Given the description of an element on the screen output the (x, y) to click on. 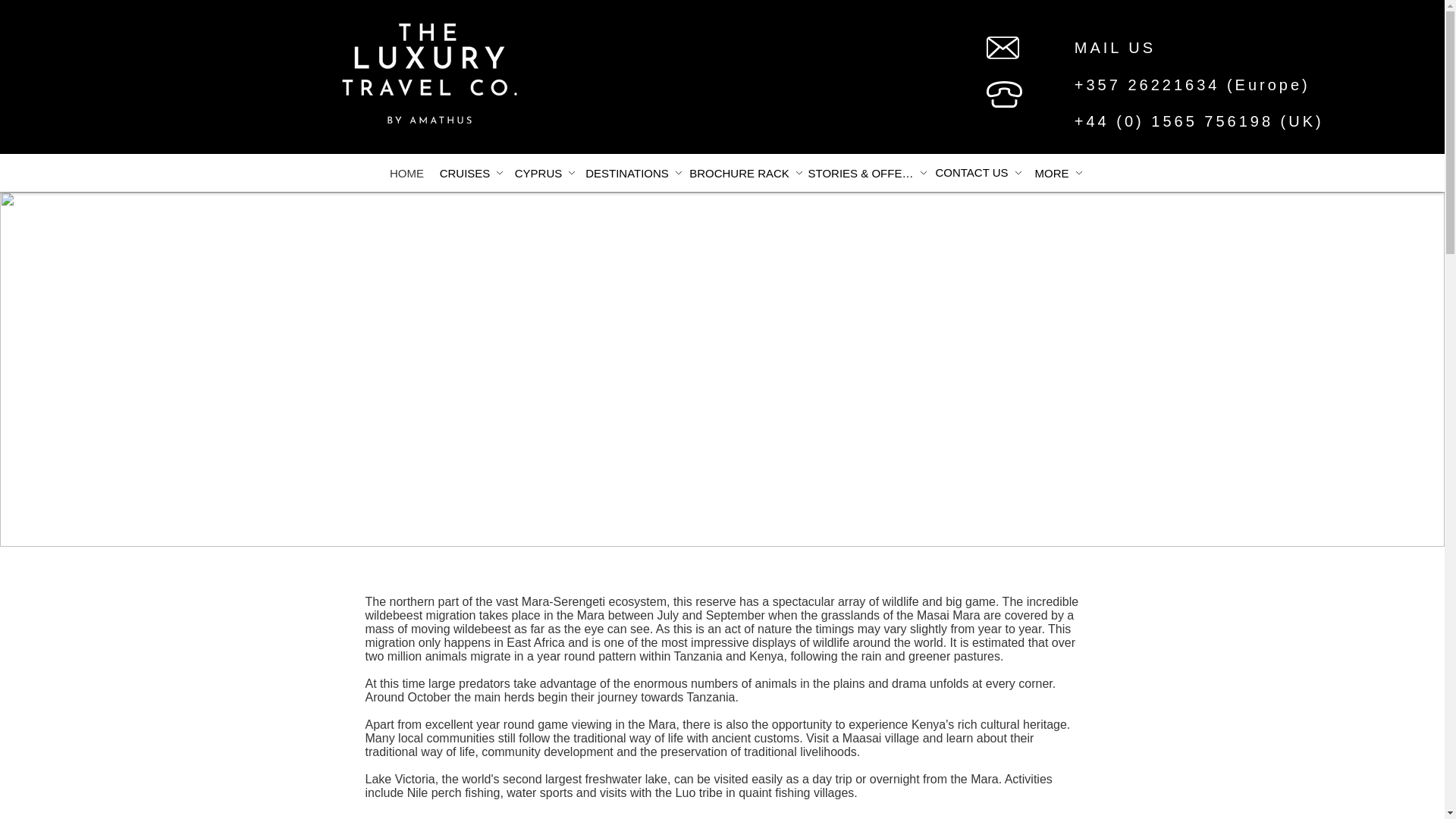
BROCHURE RACK (745, 173)
CONTACT US (978, 171)
DESTINATIONS (633, 173)
CYPRUS (545, 173)
CRUISES (470, 173)
MORE (1058, 173)
HOME (405, 173)
MAIL US (1115, 47)
